Given the description of an element on the screen output the (x, y) to click on. 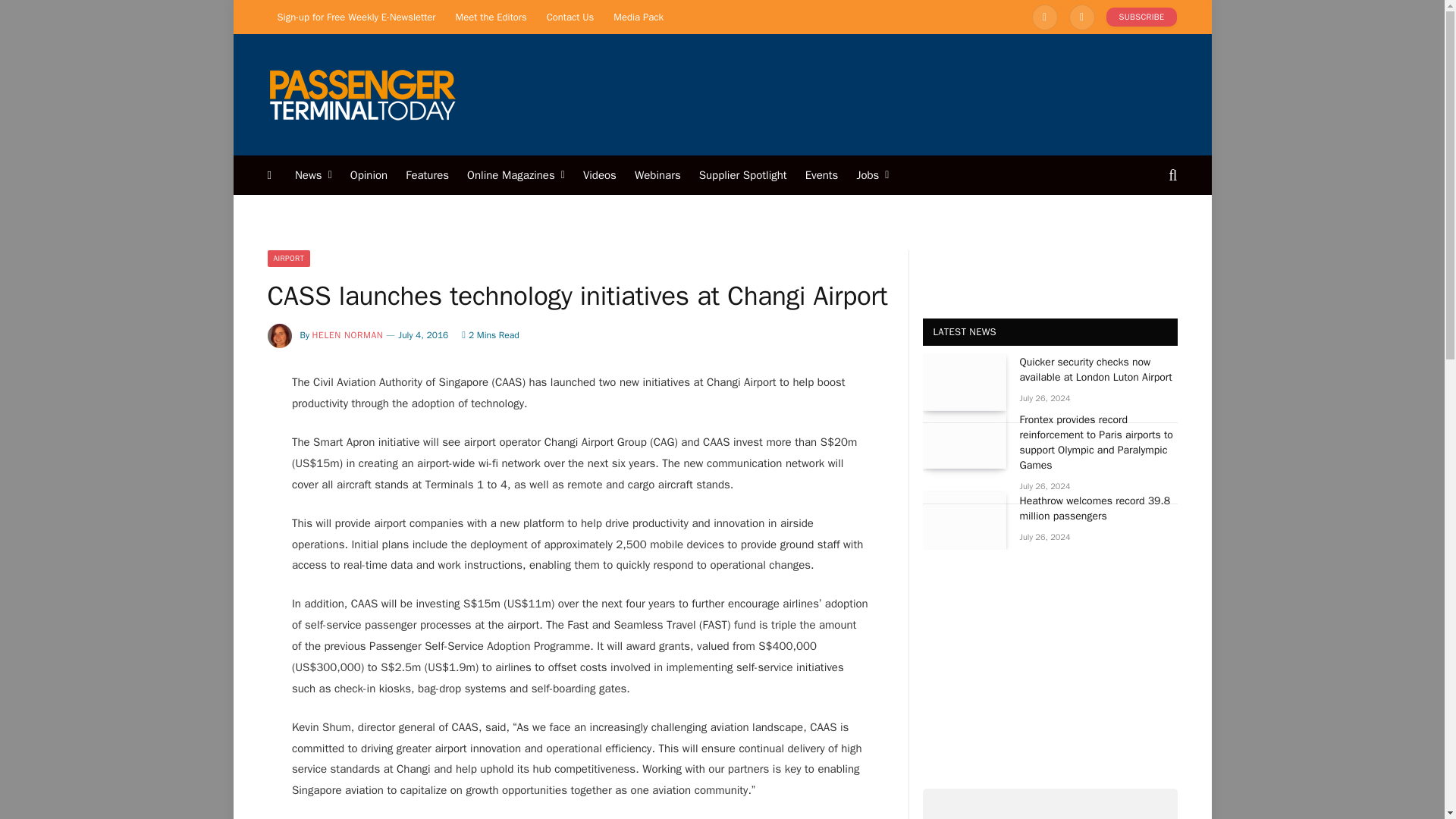
Passenger Terminal Today (361, 94)
Posts by Helen Norman (348, 335)
